Given the description of an element on the screen output the (x, y) to click on. 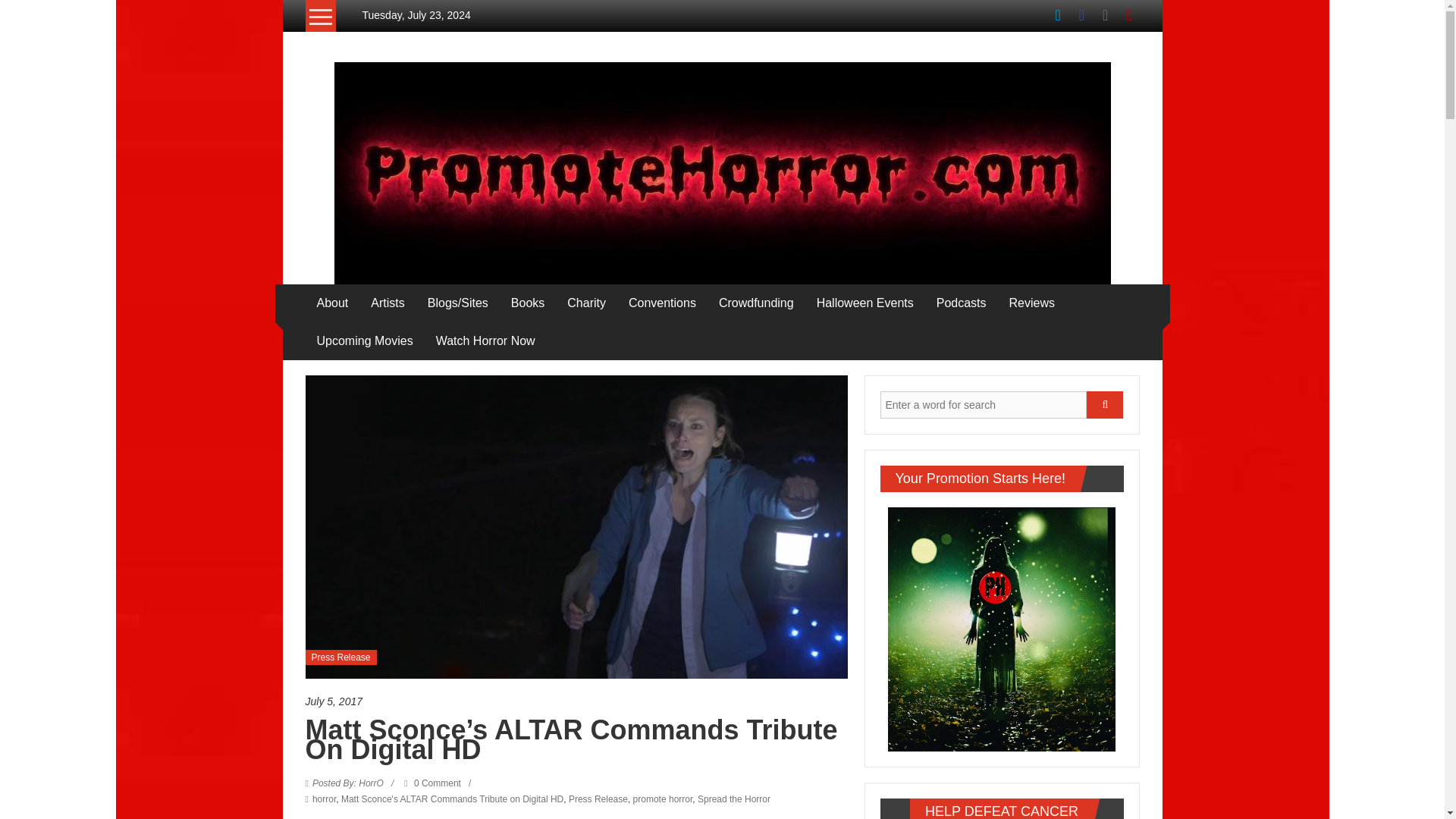
Crowdfunding (756, 303)
HorrO (348, 783)
Watch Horror Now (485, 341)
Posted By: HorrO (348, 783)
Upcoming Movies (365, 341)
Conventions (661, 303)
5:51 pm (575, 701)
horror (324, 798)
Reviews (1031, 303)
0 Comment (432, 783)
Halloween Events (865, 303)
Podcasts (961, 303)
About (333, 303)
July 5, 2017 (575, 701)
Books (527, 303)
